Given the description of an element on the screen output the (x, y) to click on. 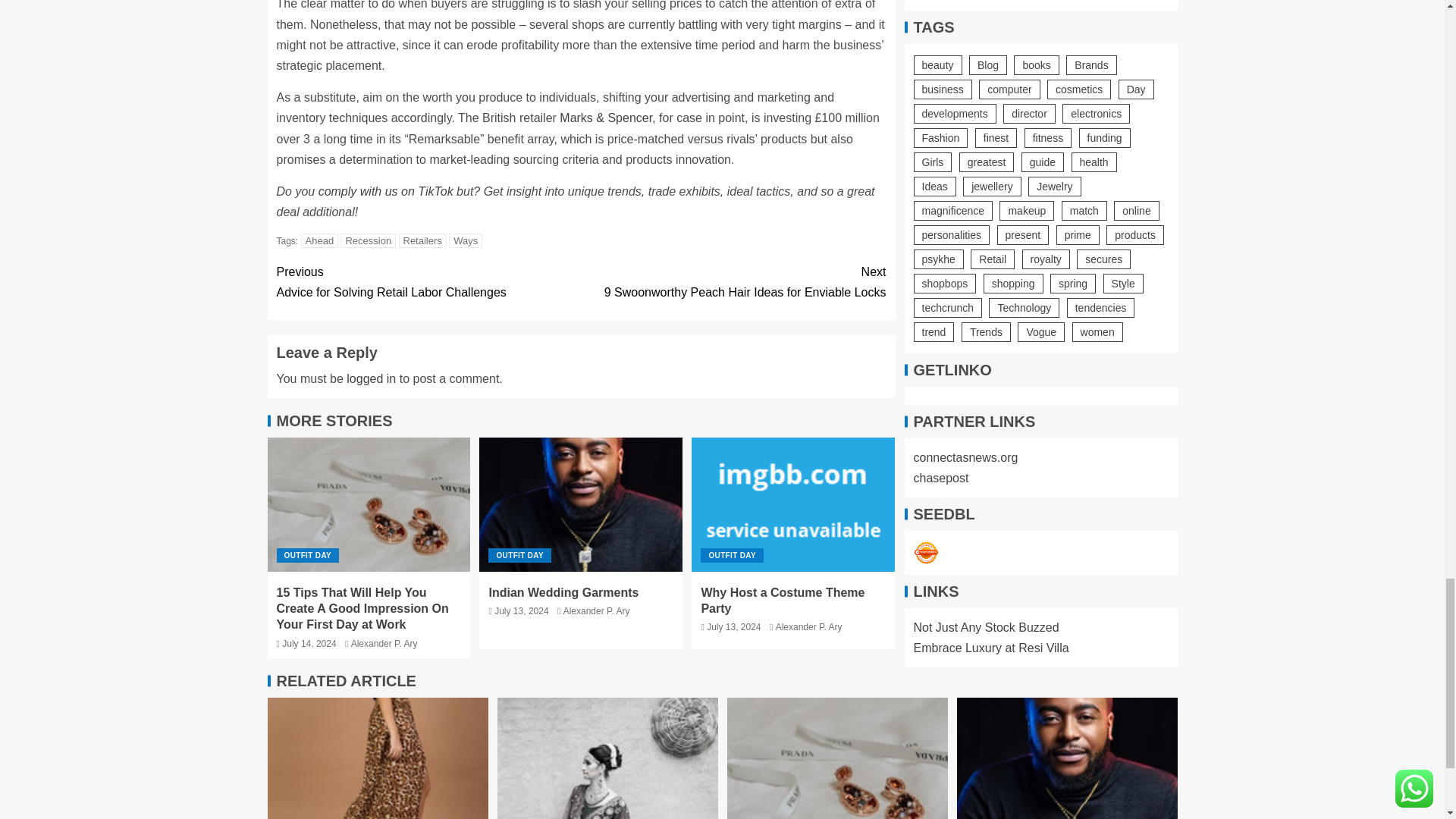
Why Host a Costume Theme Party (793, 504)
Indian Wedding Garments (580, 504)
